Given the description of an element on the screen output the (x, y) to click on. 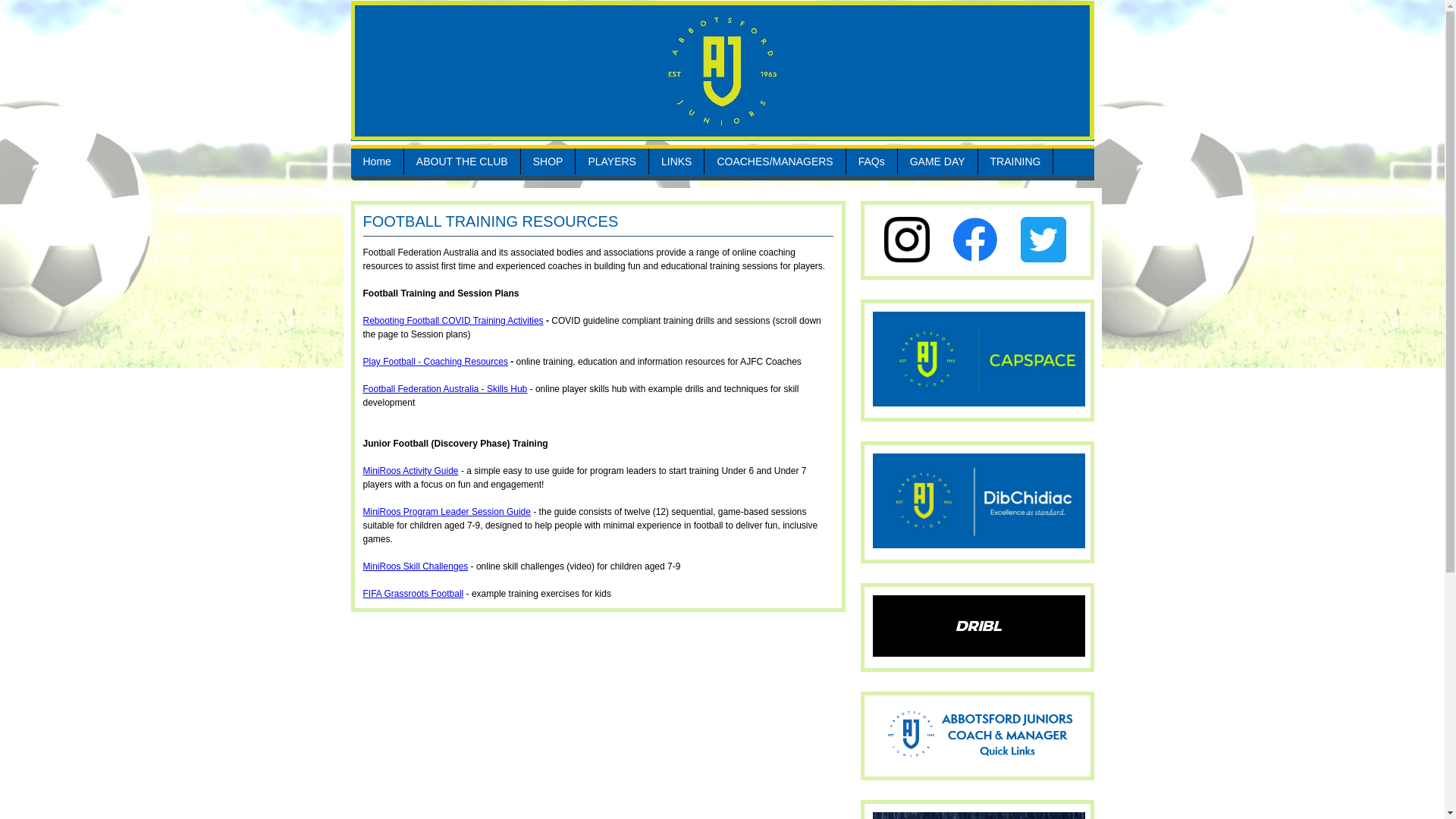
PLAYERS Element type: text (611, 161)
ABOUT THE CLUB Element type: text (462, 161)
banner Element type: hover (721, 70)
Football Federation Australia - Skills Hub Element type: text (444, 388)
Rebooting Football COVID Training Activities Element type: text (452, 320)
Home Element type: text (376, 161)
FIFA Grassroots Football Element type: text (412, 593)
TRAINING Element type: text (1015, 161)
MiniRoos Program Leader Session Guide Element type: text (446, 511)
MiniRoos Activity Guide Element type: text (410, 470)
Play Football - Coaching Resources Element type: text (434, 361)
GAME DAY Element type: text (937, 161)
LINKS Element type: text (676, 161)
SHOP Element type: text (547, 161)
MiniRoos Skill Challenges Element type: text (414, 566)
COACHES/MANAGERS Element type: text (774, 161)
FAQs Element type: text (871, 161)
